Given the description of an element on the screen output the (x, y) to click on. 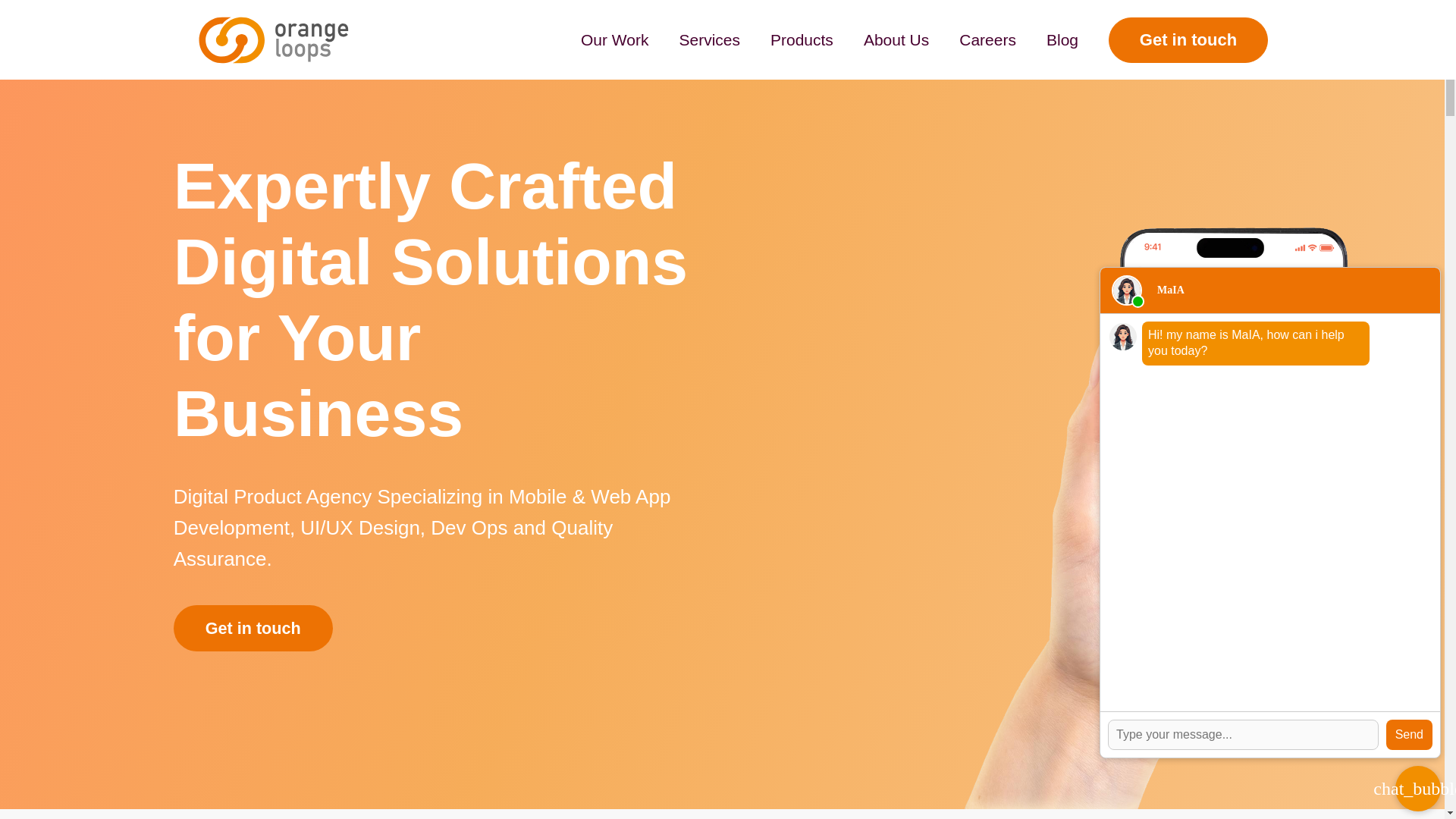
Services (708, 39)
Products (801, 39)
Send (1409, 734)
Blog (1062, 39)
About Us (895, 39)
Get in touch (1188, 39)
Get in touch (253, 628)
Our Work (613, 39)
Careers (987, 39)
